Given the description of an element on the screen output the (x, y) to click on. 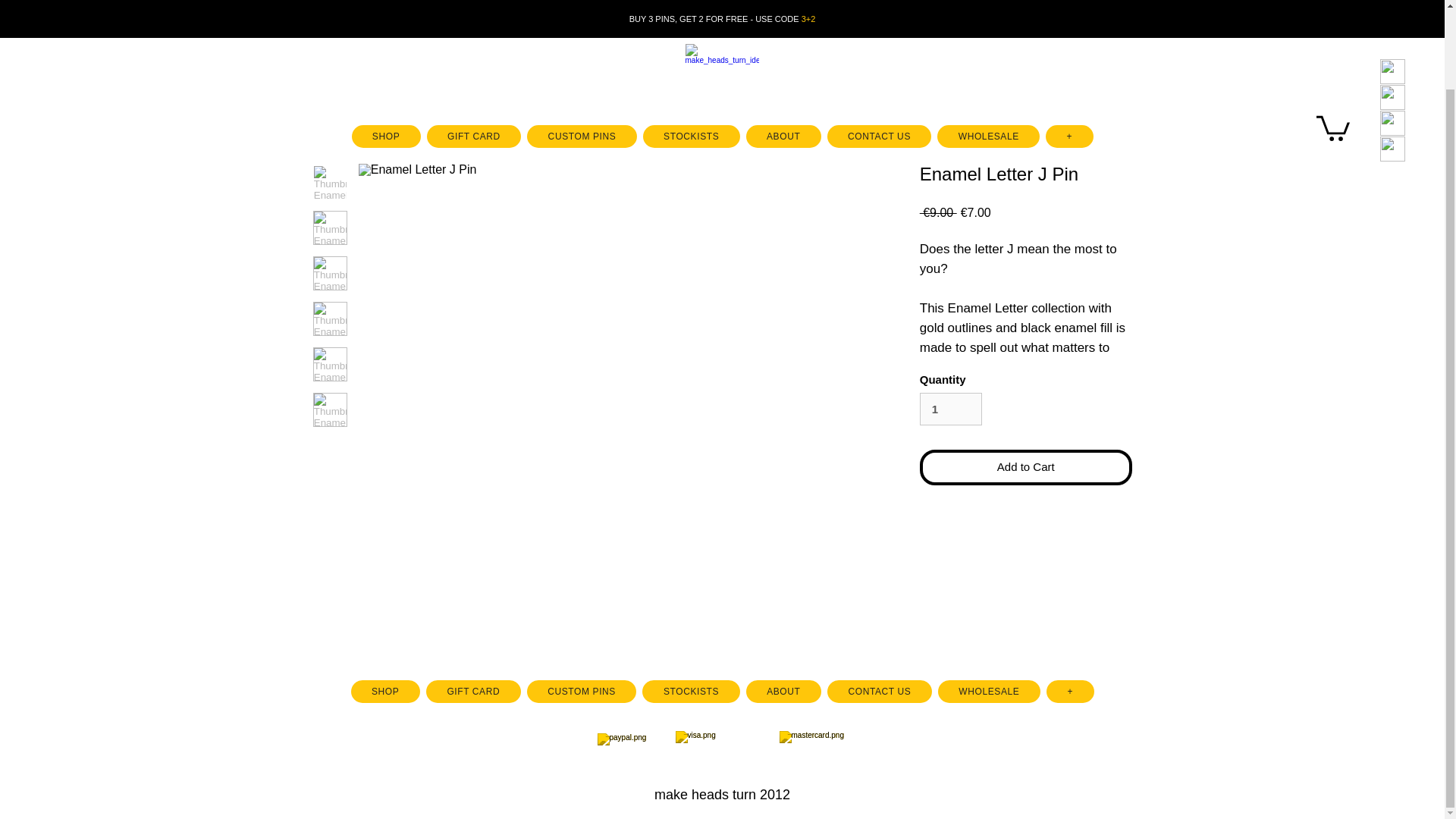
CUSTOM PINS (581, 47)
STOCKISTS (691, 47)
ABOUT (783, 47)
GIFT CARD (473, 691)
Add to Cart (1026, 467)
1 (950, 409)
CUSTOM PINS (582, 691)
CONTACT US (879, 47)
GIFT CARD (473, 47)
WHOLESALE (988, 47)
